Given the description of an element on the screen output the (x, y) to click on. 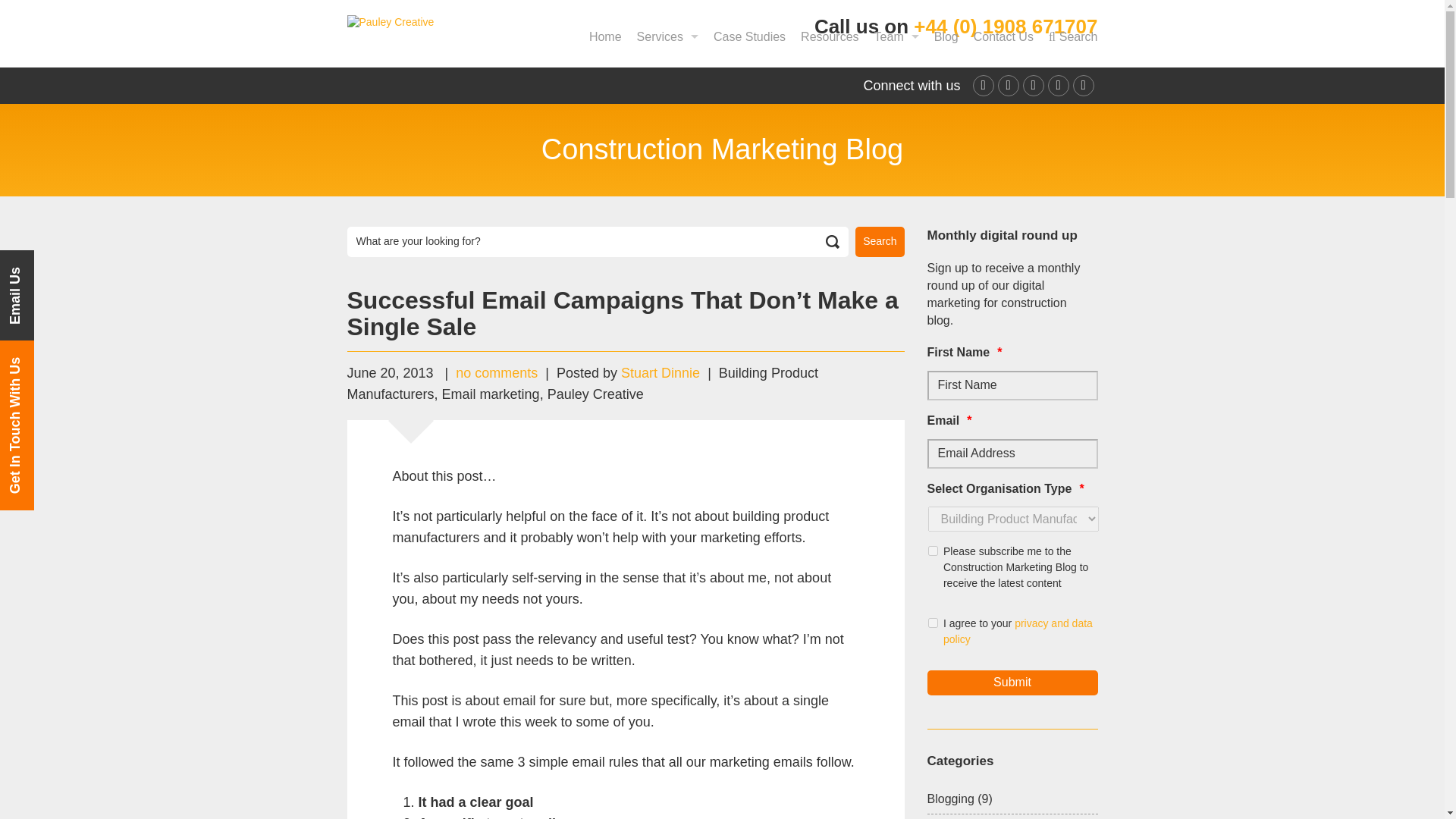
Get In Touch With Us (85, 357)
Submit (1011, 682)
Phone, email or visit us (1003, 37)
Case Studies (749, 37)
Home (605, 37)
1 (932, 551)
Email Us (45, 267)
Ebooks and Training (829, 37)
Contact Us (1003, 37)
Resources (829, 37)
Our clients tell it like it is (749, 37)
Search (1072, 37)
Team (896, 37)
Search (880, 241)
Pauley Creative (390, 21)
